Given the description of an element on the screen output the (x, y) to click on. 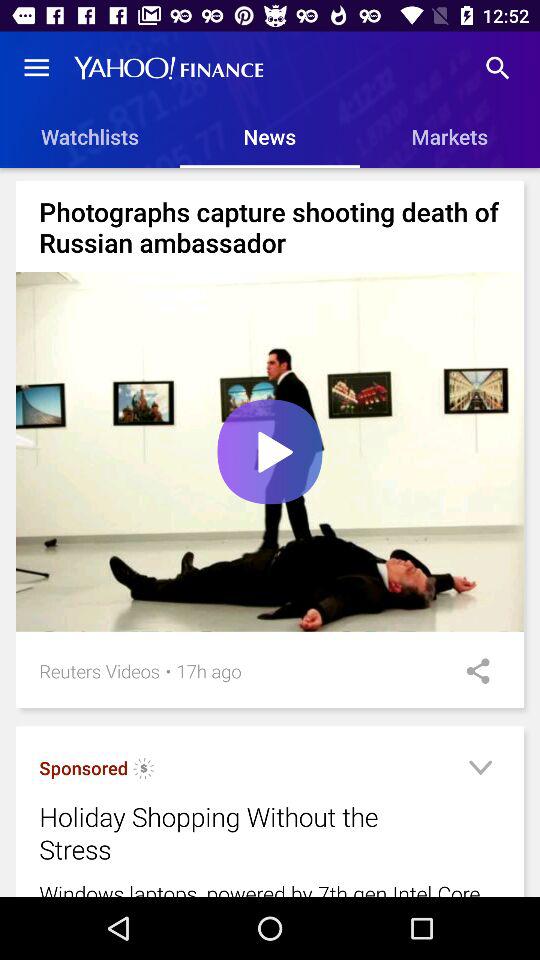
scroll to the reuters videos (99, 670)
